Given the description of an element on the screen output the (x, y) to click on. 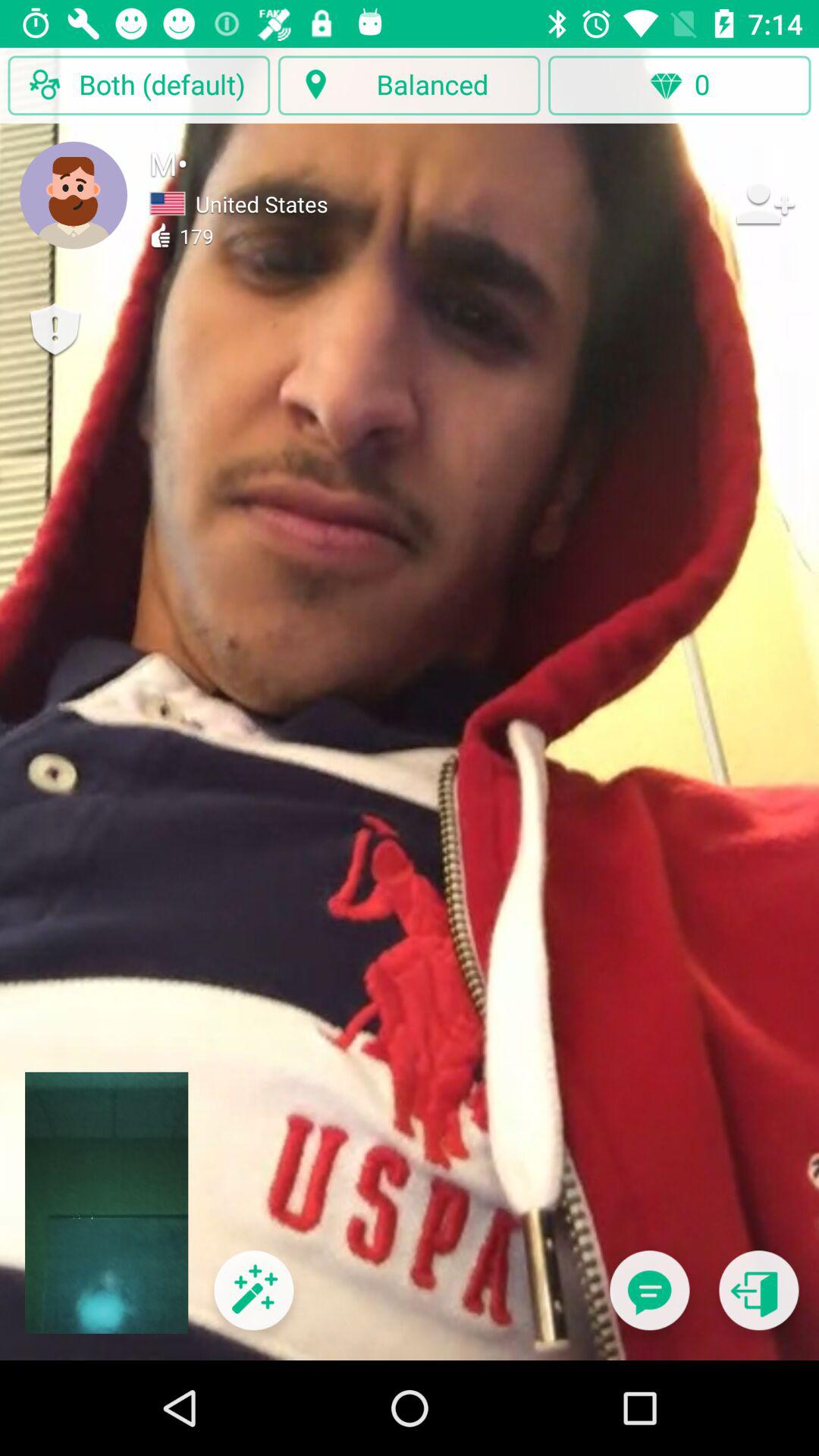
chat window (649, 1300)
